Given the description of an element on the screen output the (x, y) to click on. 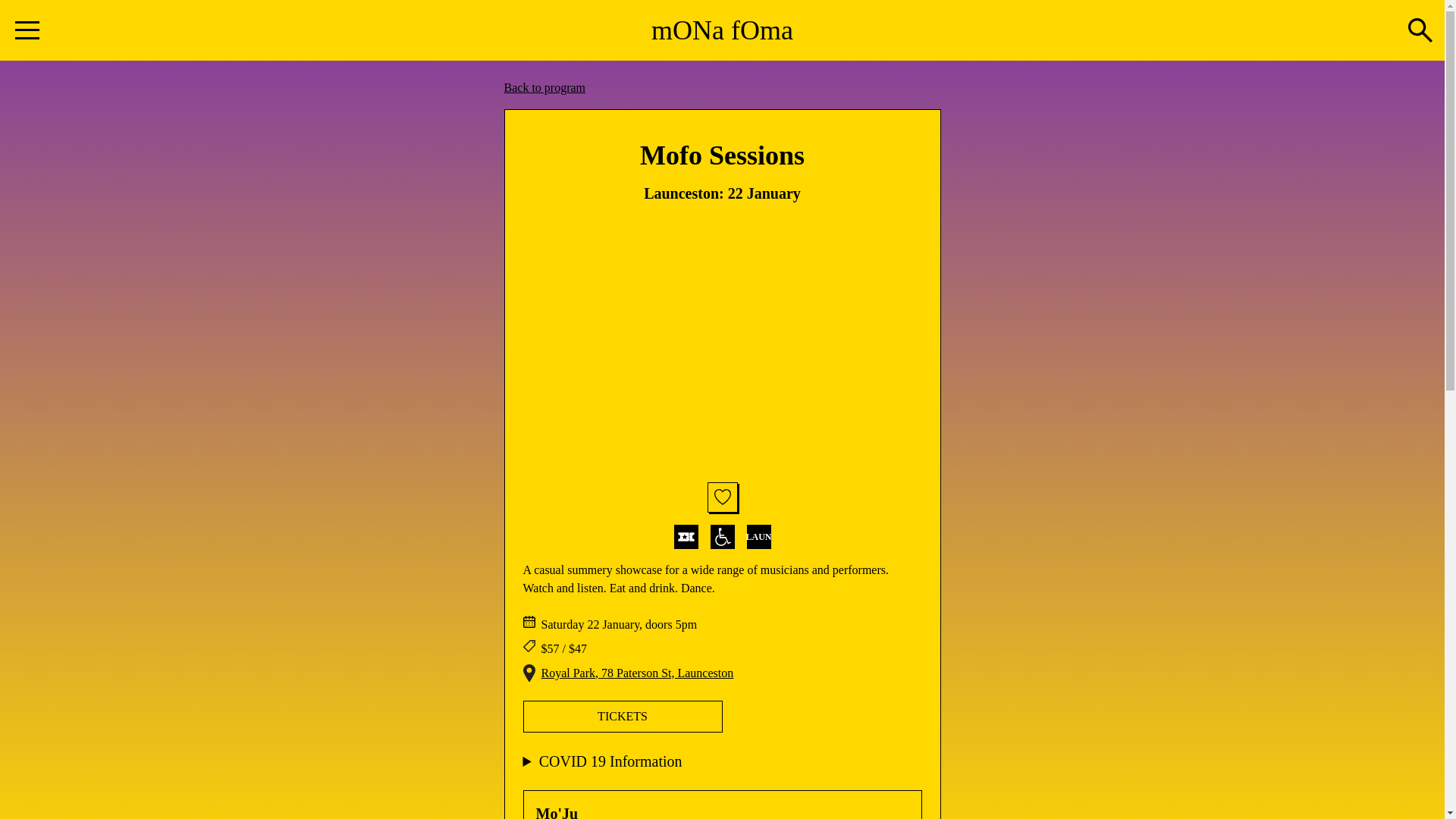
Back to program Element type: text (544, 87)
mONa fOma Element type: text (721, 30)
TICKETS Element type: text (622, 716)
Royal Park, 78 Paterson St, Launceston Element type: text (637, 673)
